Given the description of an element on the screen output the (x, y) to click on. 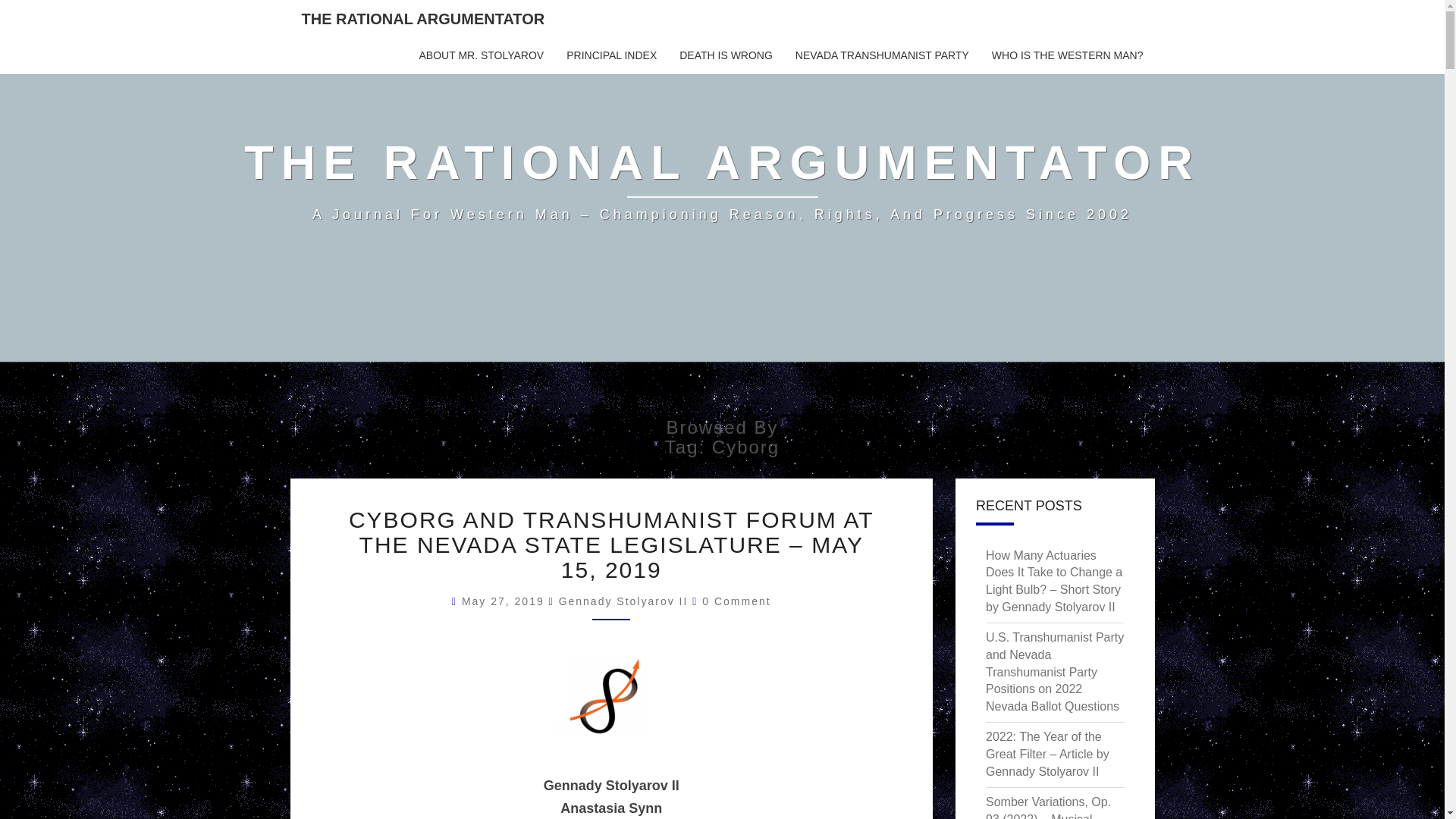
PRINCIPAL INDEX (611, 55)
The Rational Argumentator (721, 180)
DEATH IS WRONG (726, 55)
NEVADA TRANSHUMANIST PARTY (881, 55)
ABOUT MR. STOLYAROV (481, 55)
THE RATIONAL ARGUMENTATOR (422, 18)
View all posts by Gennady Stolyarov II (623, 601)
5:51 AM (504, 601)
0 Comment (735, 601)
May 27, 2019 (504, 601)
Gennady Stolyarov II (623, 601)
WHO IS THE WESTERN MAN? (1066, 55)
